Given the description of an element on the screen output the (x, y) to click on. 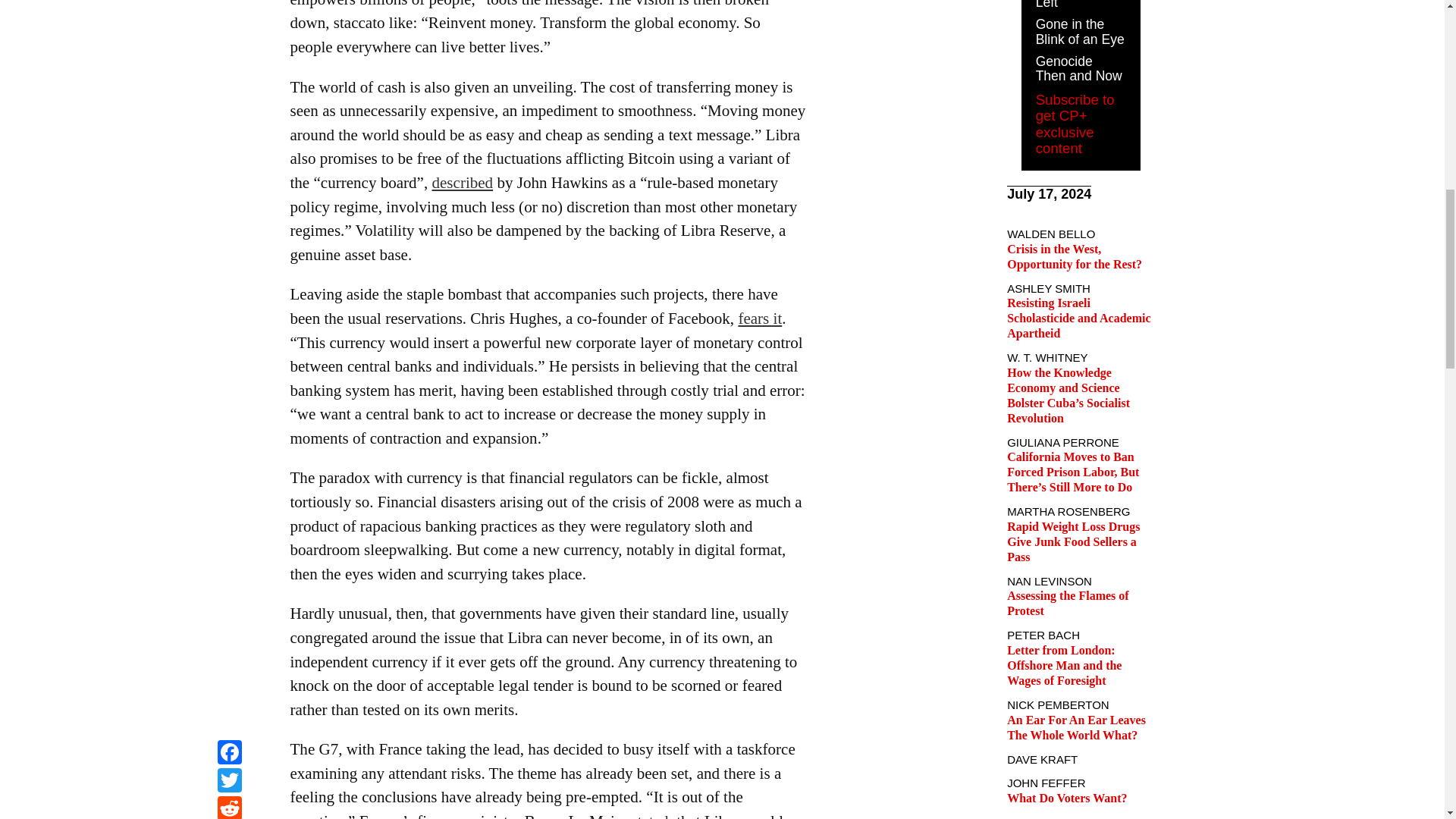
Reddit (229, 2)
fears it (759, 318)
described (461, 182)
Email (229, 18)
Email (229, 18)
Reddit (229, 2)
stated (649, 815)
